Given the description of an element on the screen output the (x, y) to click on. 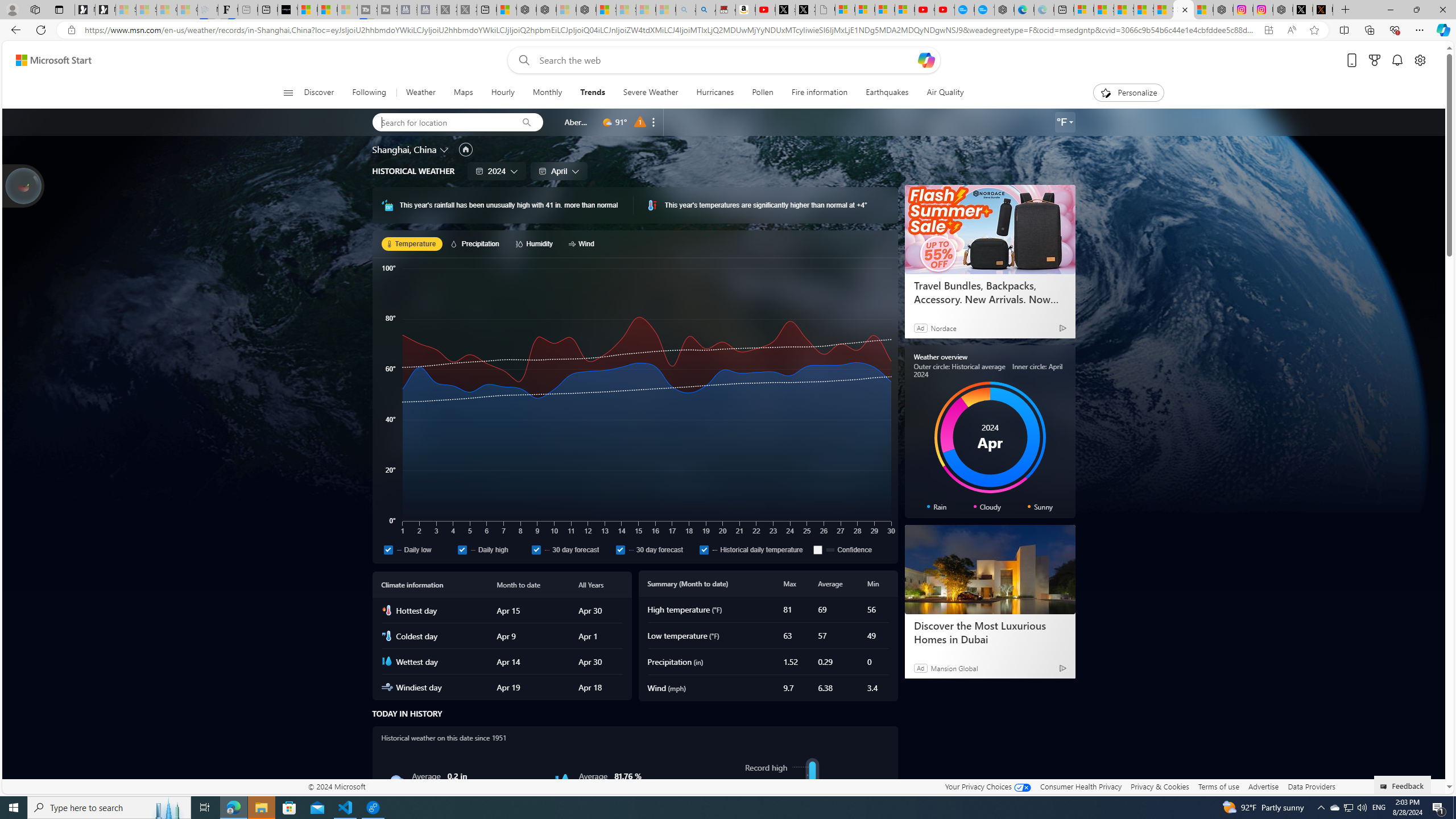
Gloom - YouTube (924, 9)
help.x.com | 524: A timeout occurred (1322, 9)
Shanghai, China (403, 149)
Earthquakes (886, 92)
